Given the description of an element on the screen output the (x, y) to click on. 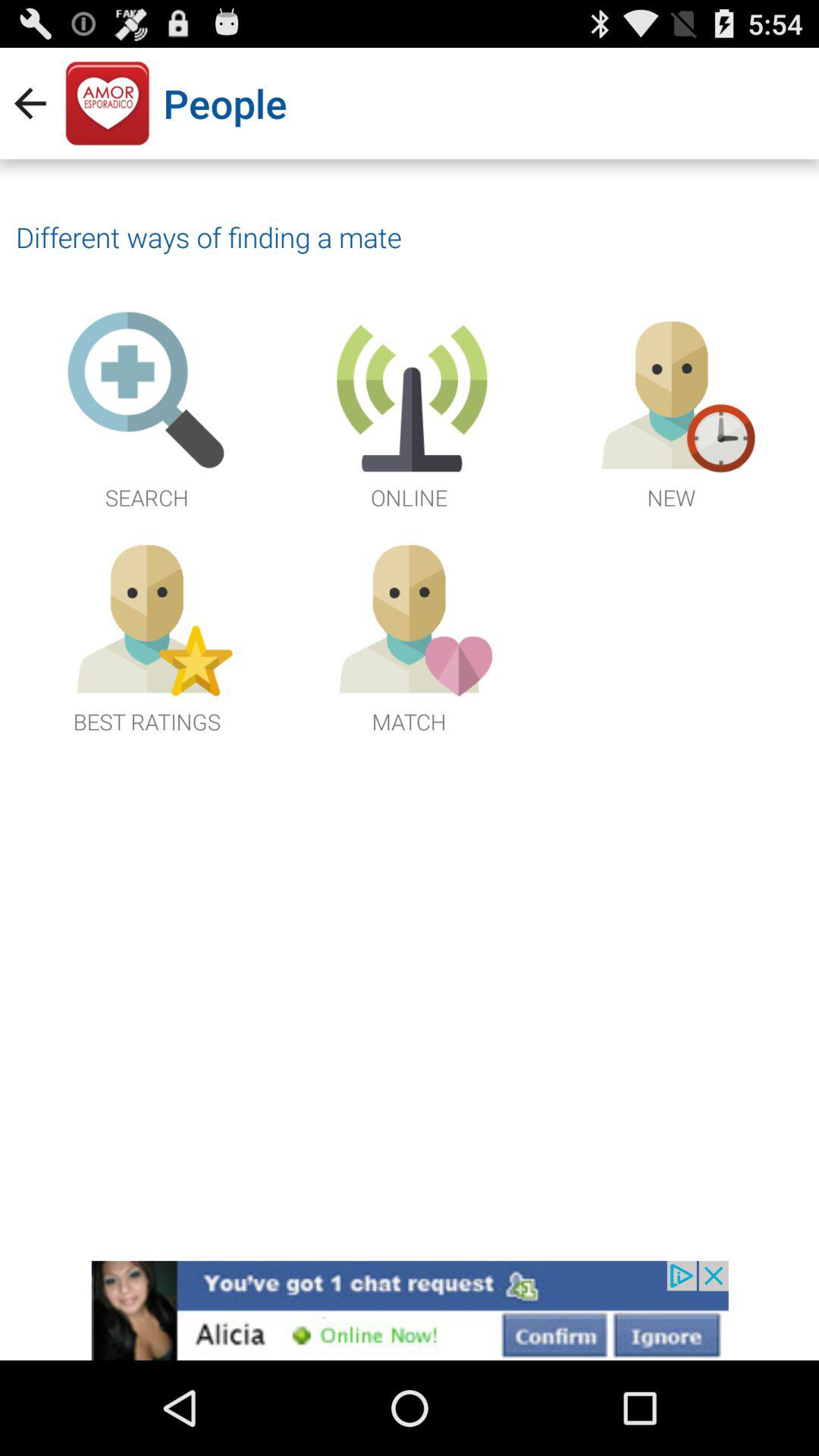
match with others (409, 634)
